Given the description of an element on the screen output the (x, y) to click on. 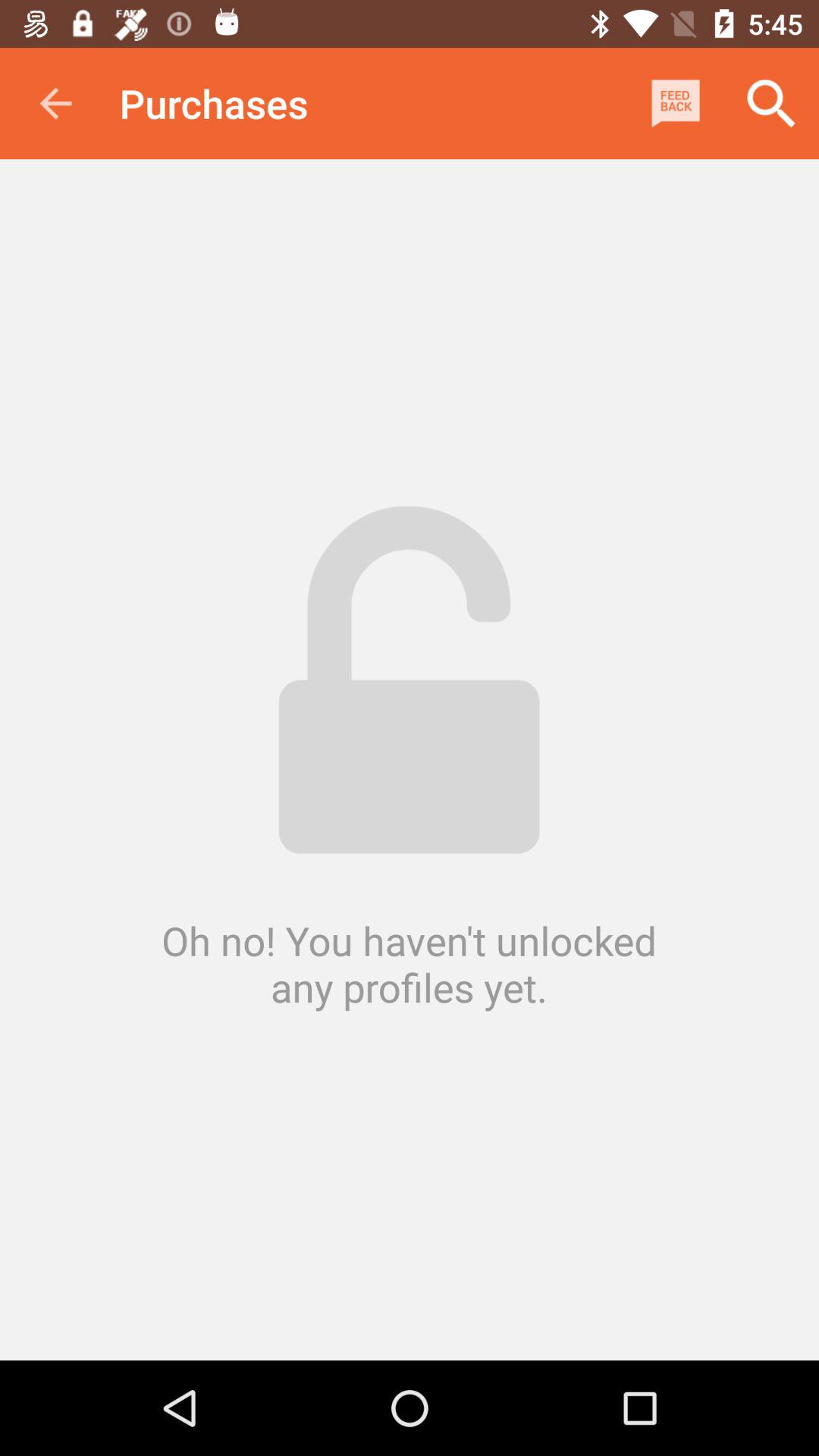
open item to the right of purchases icon (675, 103)
